Given the description of an element on the screen output the (x, y) to click on. 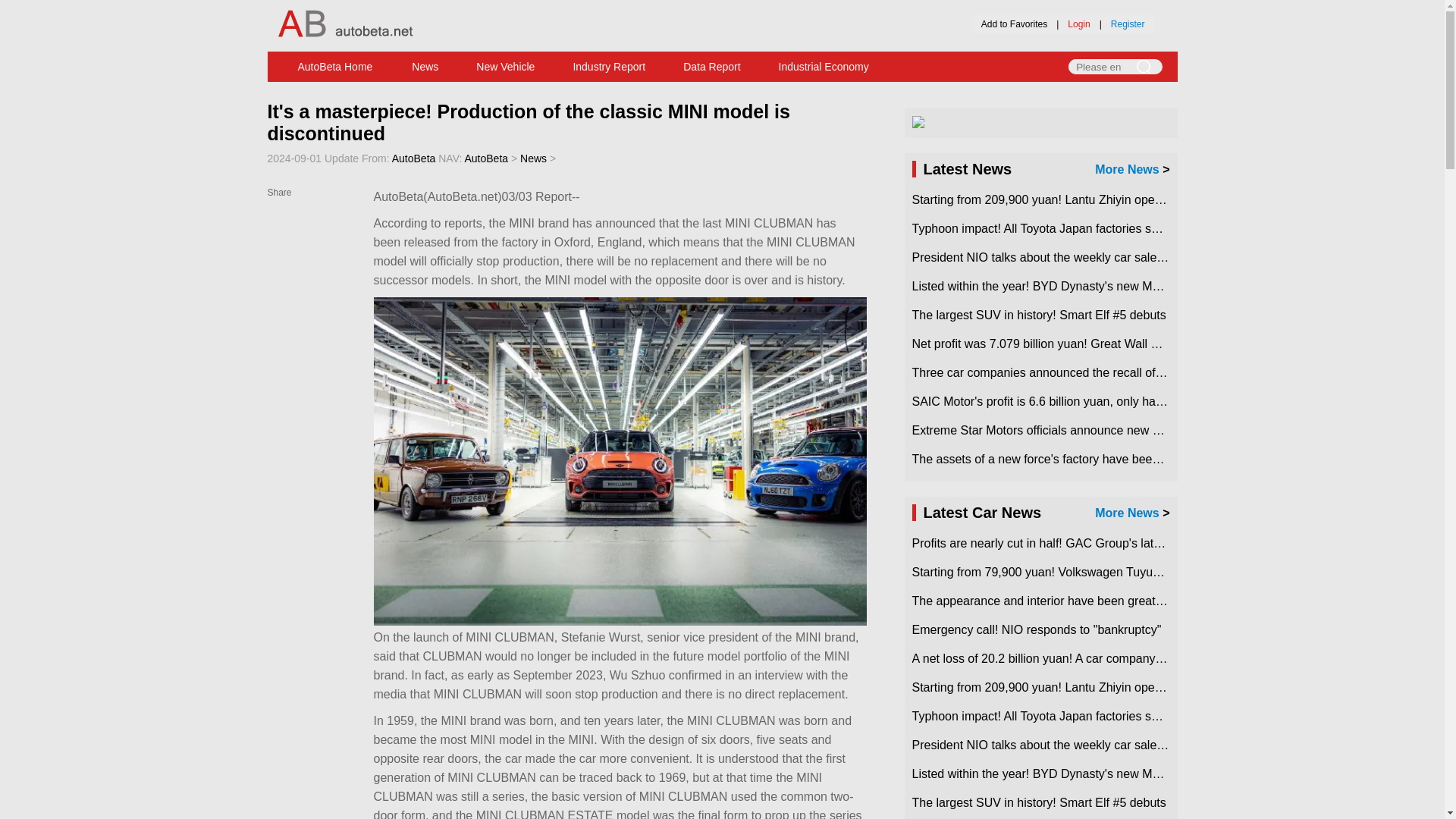
AutoBeta (486, 158)
Login (1078, 23)
Data Report (710, 66)
News (425, 66)
New Vehicle (505, 66)
Car Directory (739, 90)
Industry Report (608, 66)
AutoBeta (335, 66)
News (425, 66)
Register (1127, 23)
